Given the description of an element on the screen output the (x, y) to click on. 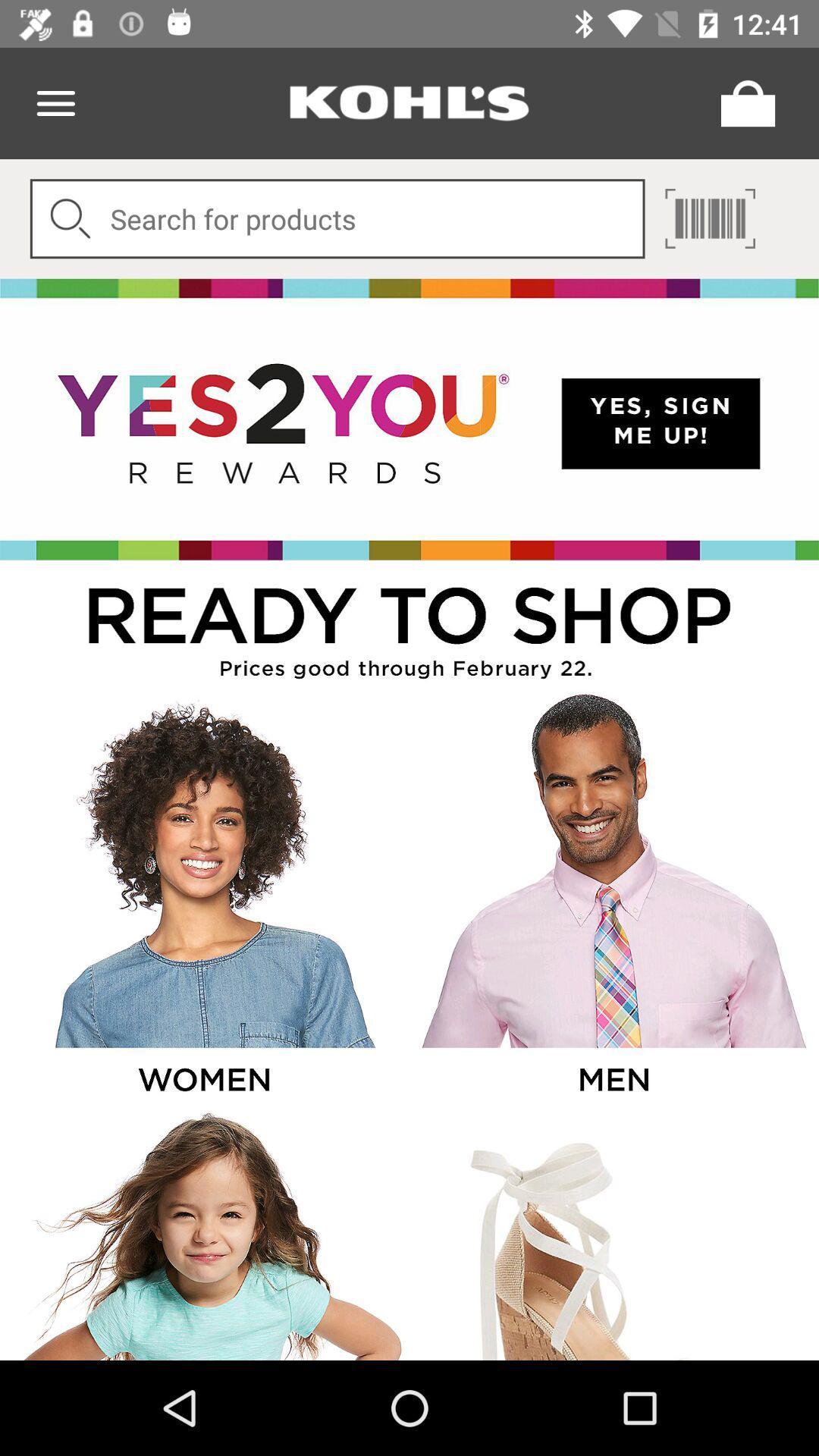
opens the cart (744, 103)
